Given the description of an element on the screen output the (x, y) to click on. 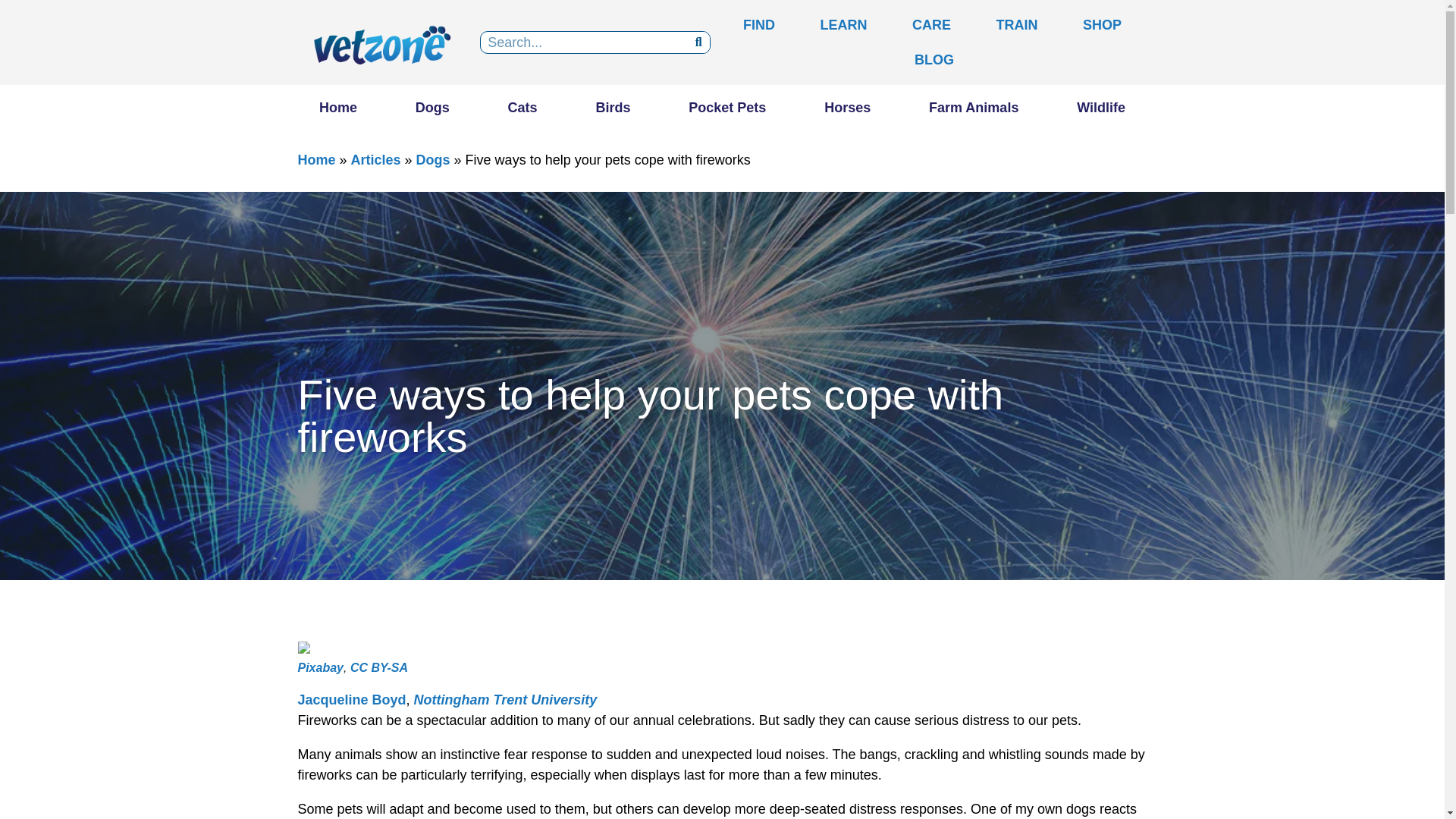
Birds (612, 107)
FIND (759, 24)
Dogs (432, 107)
Articles (375, 159)
TRAIN (1016, 24)
Pocket Pets (726, 107)
Jacqueline Boyd (351, 699)
LEARN (843, 24)
Dogs (432, 159)
SHOP (1102, 24)
Farm Animals (973, 107)
Nottingham Trent University (504, 699)
Wildlife (1101, 107)
Home (315, 159)
CC BY-SA (378, 667)
